Given the description of an element on the screen output the (x, y) to click on. 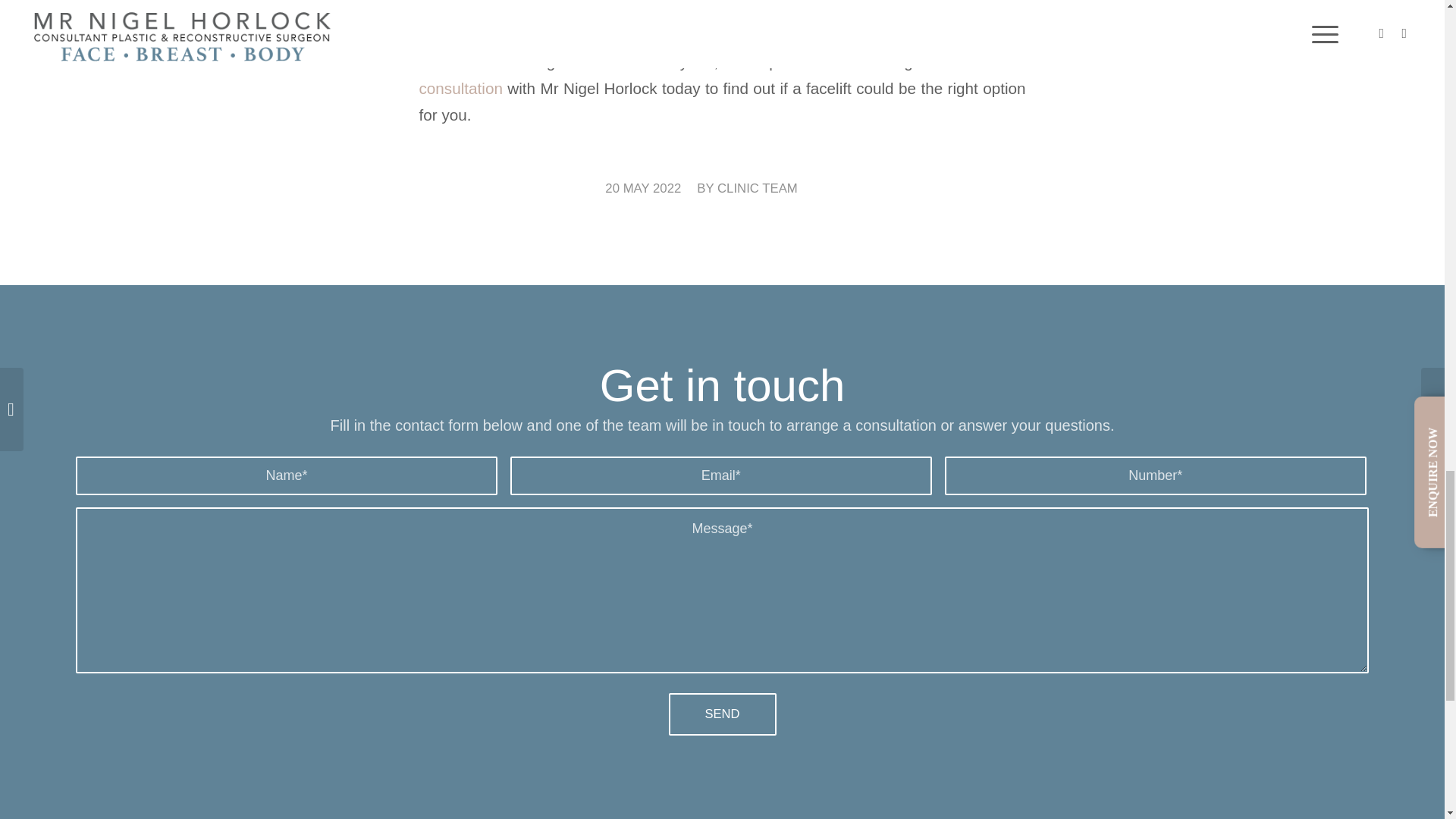
Book a consultation (722, 75)
tighten up the tissue (842, 2)
SEND (722, 713)
CLINIC TEAM (757, 187)
SEND (722, 713)
Posts by Clinic Team (757, 187)
